Given the description of an element on the screen output the (x, y) to click on. 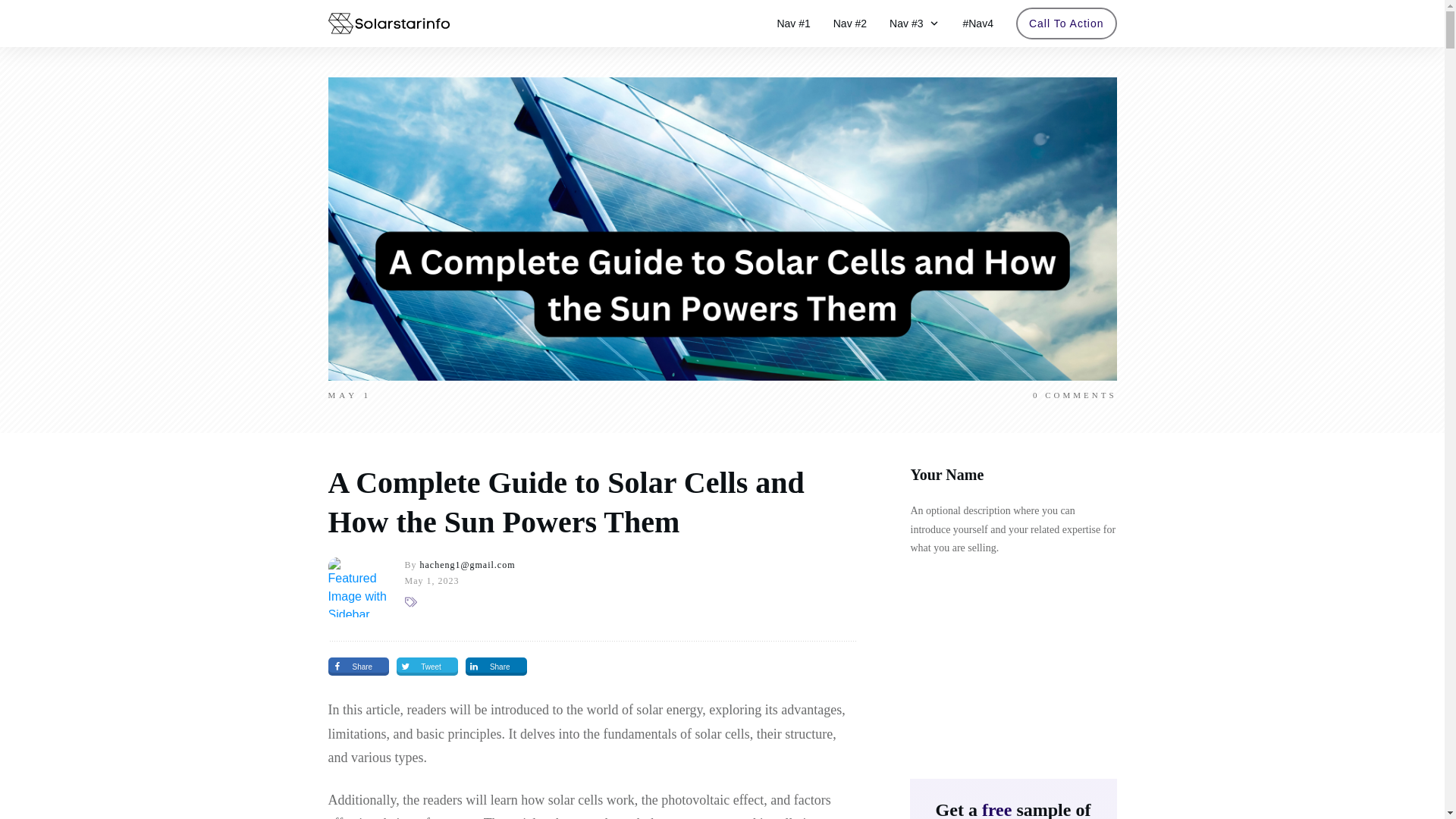
Share (357, 666)
Share (496, 666)
A Complete Guide to Solar Cells and How the Sun Powers Them (565, 502)
Featured Image with Sidebar (357, 587)
A Complete Guide to Solar Cells and How the Sun Powers Them (565, 502)
Call To Action (1066, 23)
Tweet (427, 666)
